Given the description of an element on the screen output the (x, y) to click on. 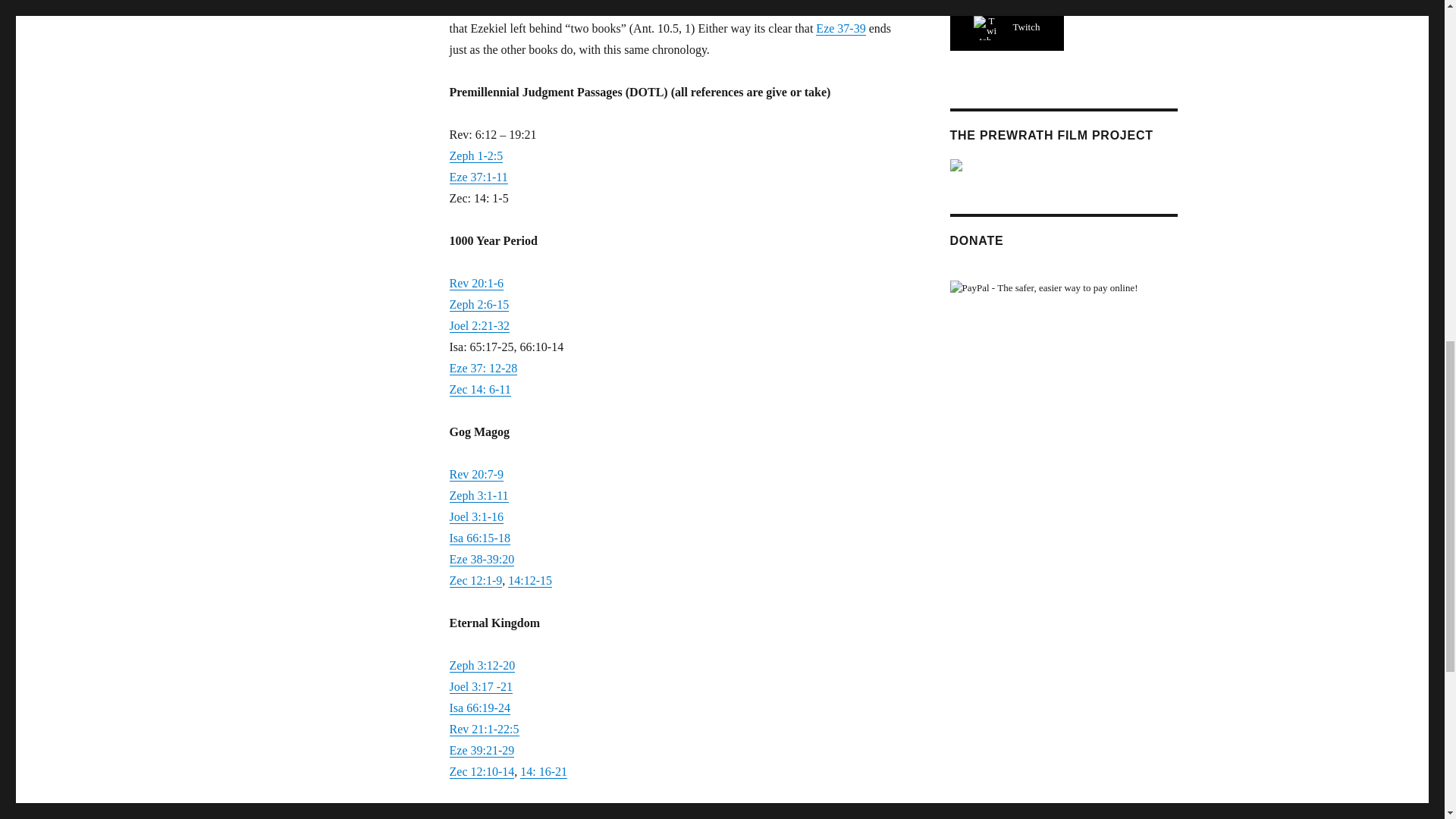
Eze 38-39:20 (480, 558)
Zeph 3:1-11 (478, 495)
Rev 21:1-22:5 (483, 728)
Isa 66:19-24 (478, 707)
14: 16-21 (543, 771)
Zeph 3:12-20 (481, 665)
Zeph 2:6-15 (478, 304)
Isa 66:15-18 (478, 537)
Joel 3:1-16 (475, 516)
Joel 3:17 -21 (480, 686)
Joel 2:21-32 (478, 325)
Eze 37-39 (839, 28)
Zec 12:1-9 (475, 580)
Rev 20:1-6 (475, 282)
14:12-15 (529, 580)
